Given the description of an element on the screen output the (x, y) to click on. 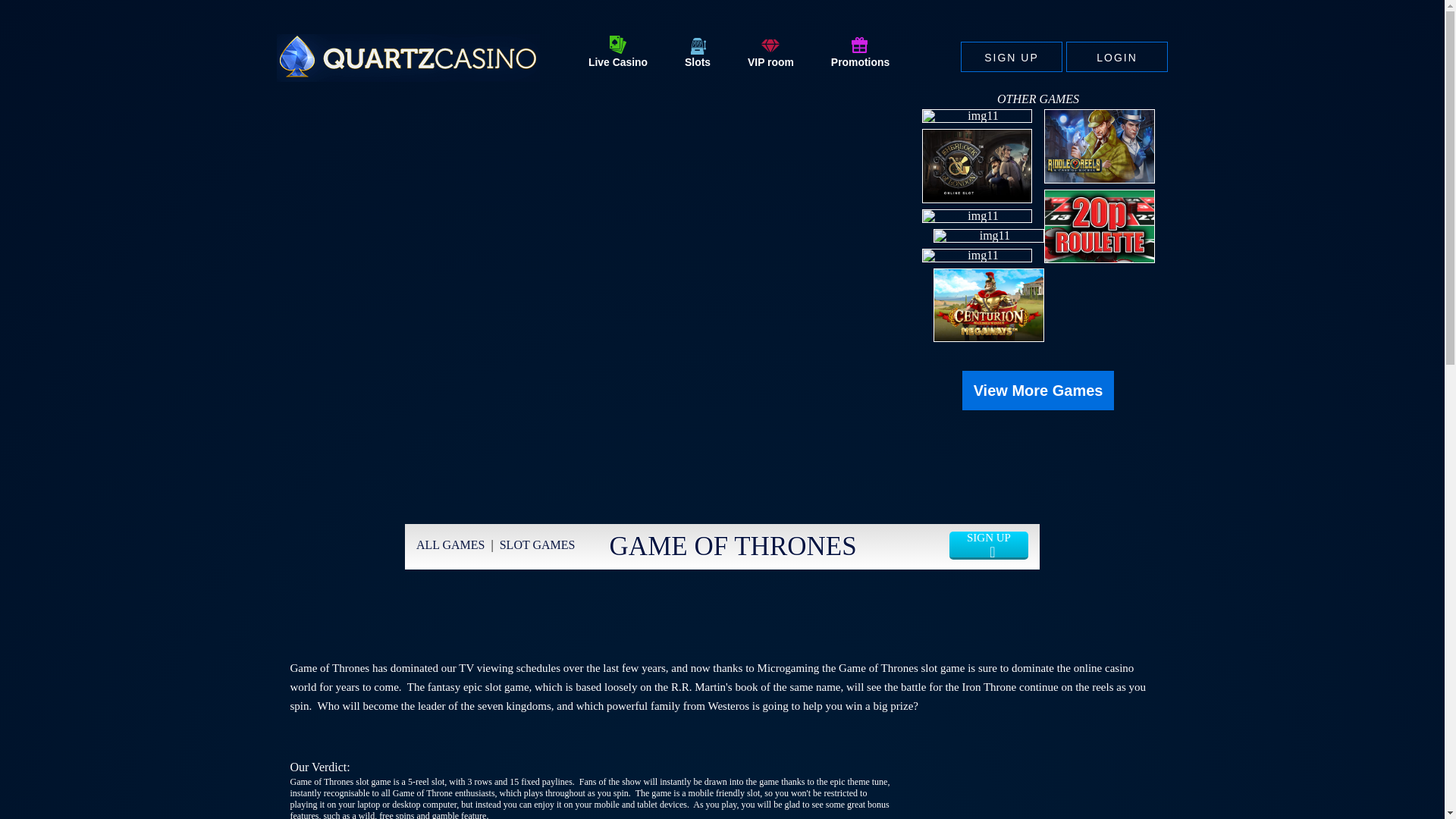
SIGN UP (1011, 56)
View More Games (1037, 391)
VIP room (770, 53)
Live Casino (617, 53)
LOGIN (1116, 56)
Promotions (860, 53)
